Given the description of an element on the screen output the (x, y) to click on. 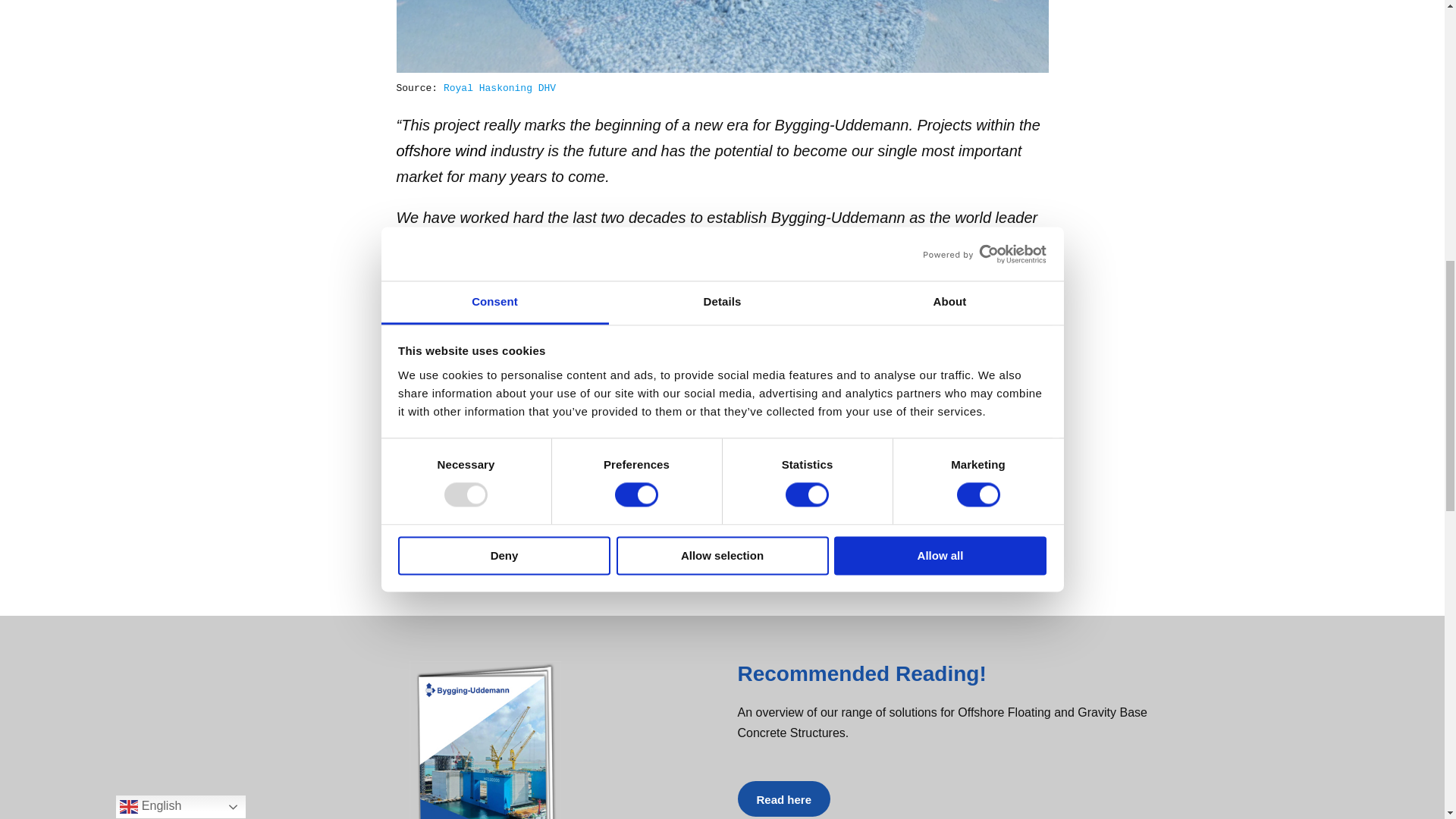
Global2 (484, 739)
